Given the description of an element on the screen output the (x, y) to click on. 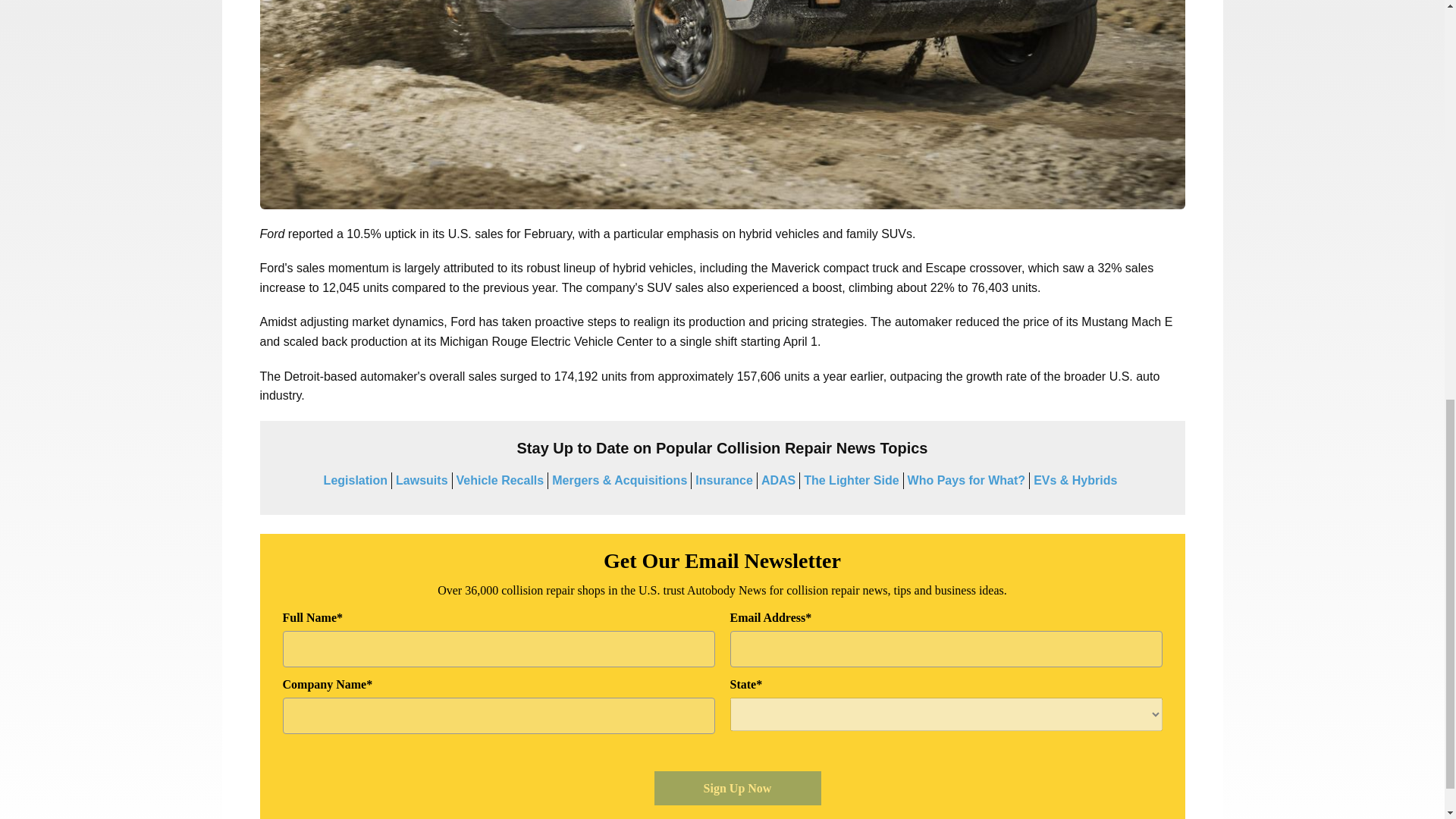
The Lighter Side (850, 480)
Lawsuits (421, 480)
ADAS (777, 480)
Who Pays for What? (966, 480)
Legislation (355, 480)
Vehicle Recalls (500, 480)
Insurance (723, 480)
